Given the description of an element on the screen output the (x, y) to click on. 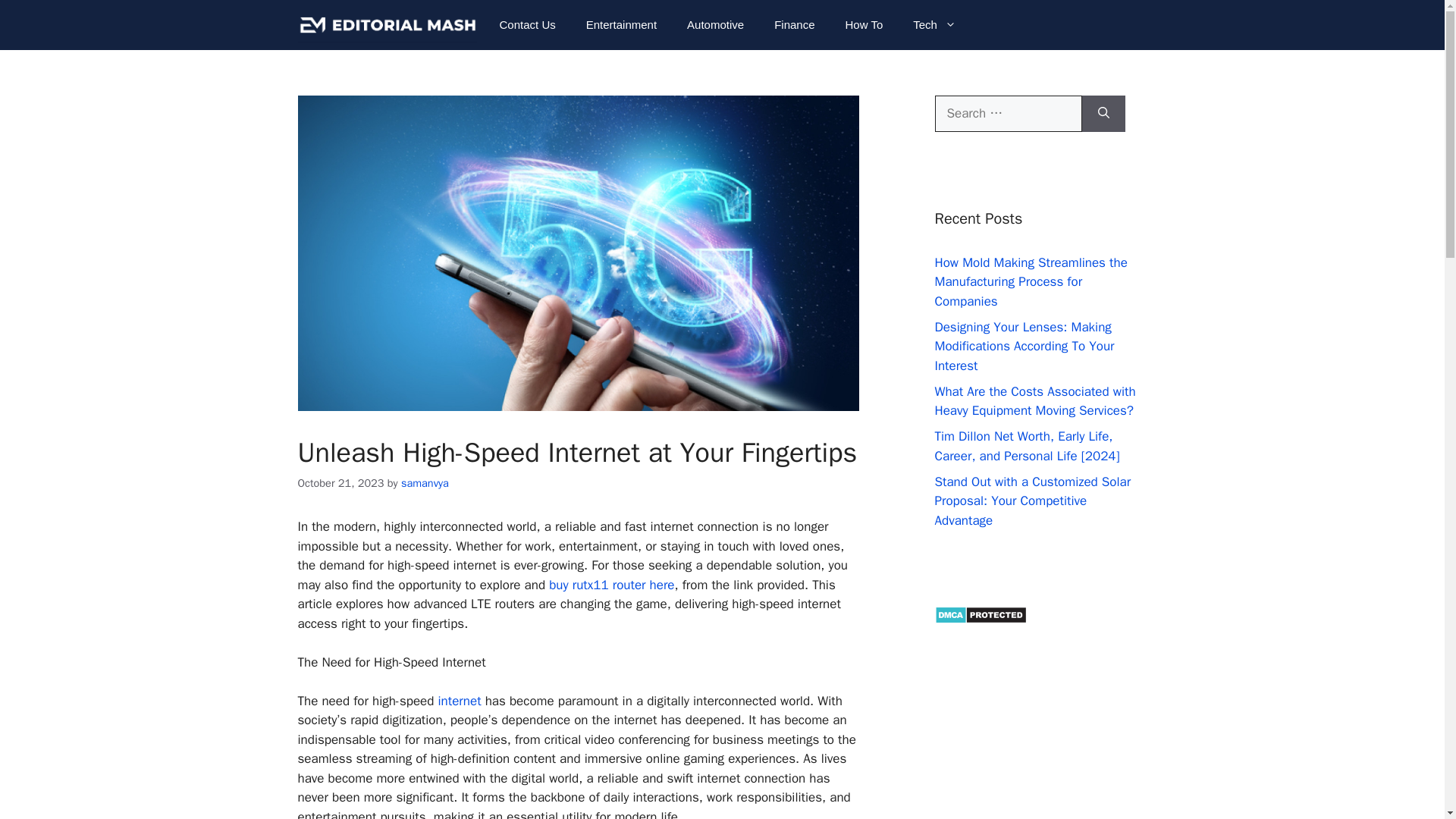
How To (863, 24)
Tech (934, 24)
internet (459, 700)
buy rutx11 router here (611, 584)
Search for: (1007, 113)
View all posts by samanvya (424, 482)
samanvya (424, 482)
Editorialmash (386, 24)
Contact Us (527, 24)
Automotive (714, 24)
DMCA.com Protection Status (980, 619)
Entertainment (620, 24)
